Given the description of an element on the screen output the (x, y) to click on. 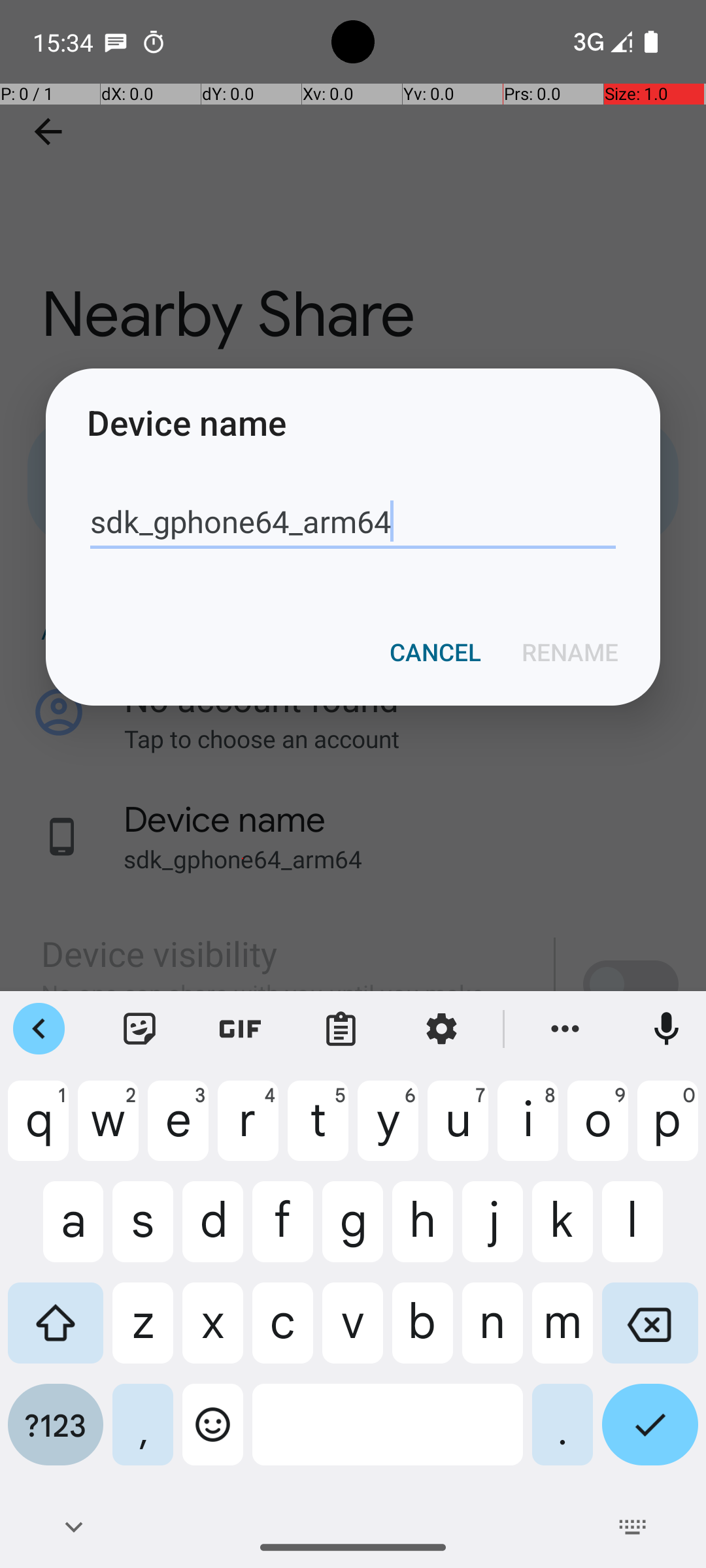
RENAME Element type: android.widget.Button (570, 651)
